Given the description of an element on the screen output the (x, y) to click on. 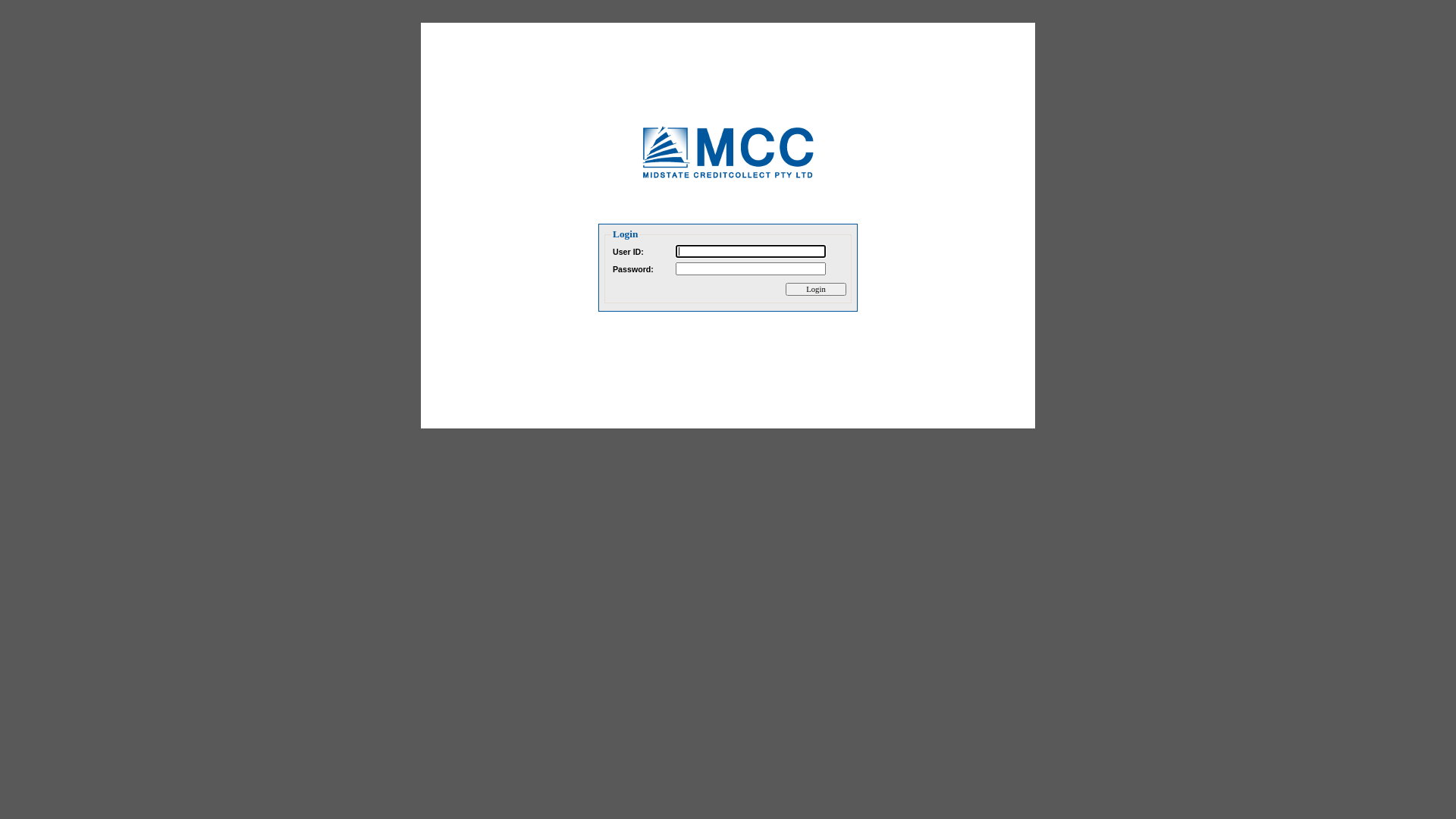
Login Element type: text (815, 288)
